Given the description of an element on the screen output the (x, y) to click on. 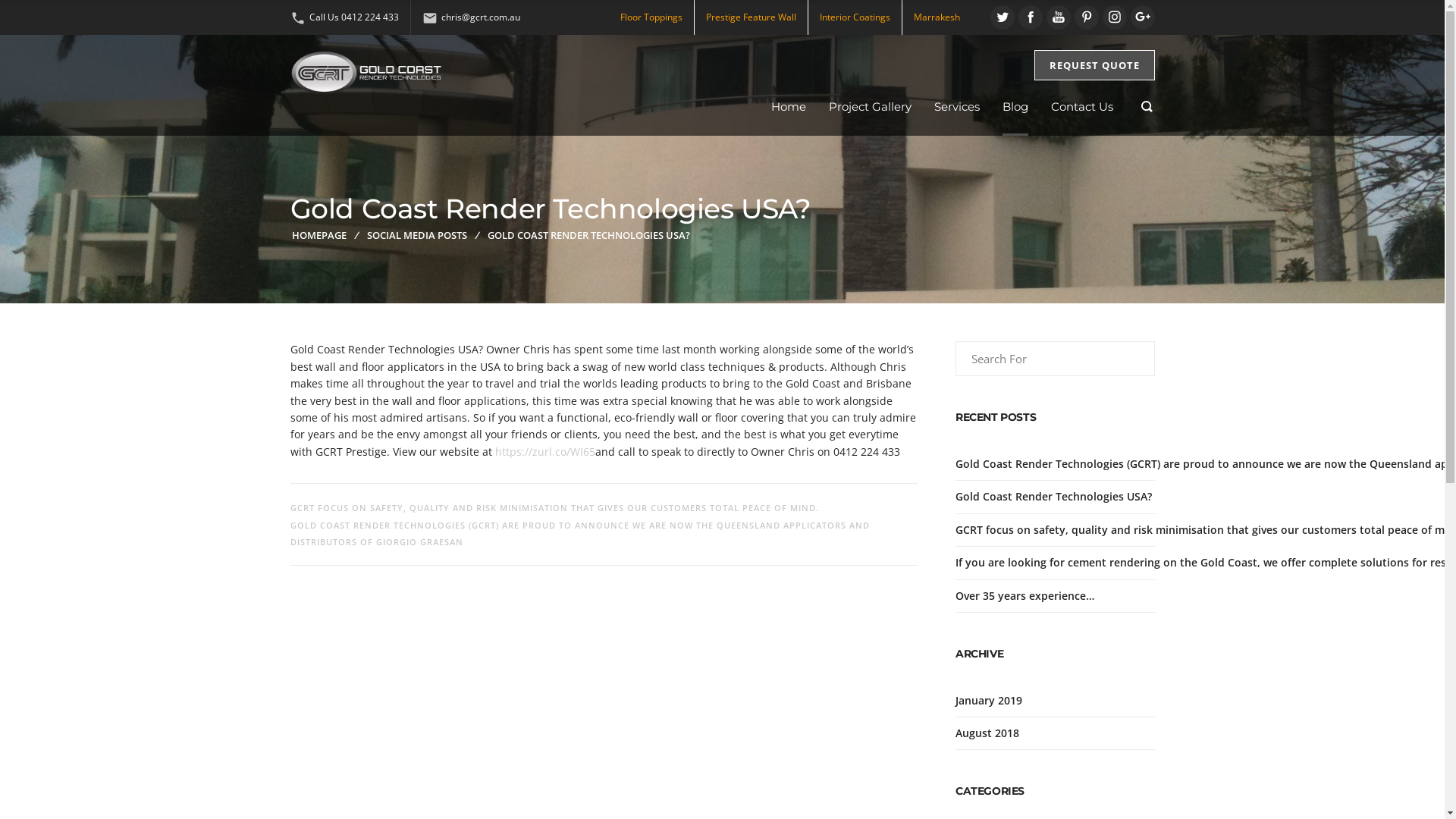
Services Element type: text (956, 107)
REQUEST QUOTE Element type: text (1094, 65)
Floor Toppings Element type: text (651, 16)
https://zurl.co/WI65 Element type: text (544, 451)
Marrakesh Element type: text (936, 16)
Search for: Element type: hover (1054, 358)
Gold Coast Render Technologies USA? Element type: text (1053, 496)
Prestige Feature Wall Element type: text (750, 16)
Home Element type: text (787, 107)
January 2019 Element type: text (988, 700)
Project Gallery Element type: text (869, 107)
emailchris@gcrt.com.au Element type: text (470, 16)
SOCIAL MEDIA POSTS Element type: text (417, 234)
HOMEPAGE Element type: text (318, 234)
Blog Element type: text (1015, 107)
phoneCall Us 0412 224 433 Element type: text (343, 16)
August 2018 Element type: text (987, 732)
Contact Us Element type: text (1082, 107)
Interior Coatings Element type: text (854, 16)
